Given the description of an element on the screen output the (x, y) to click on. 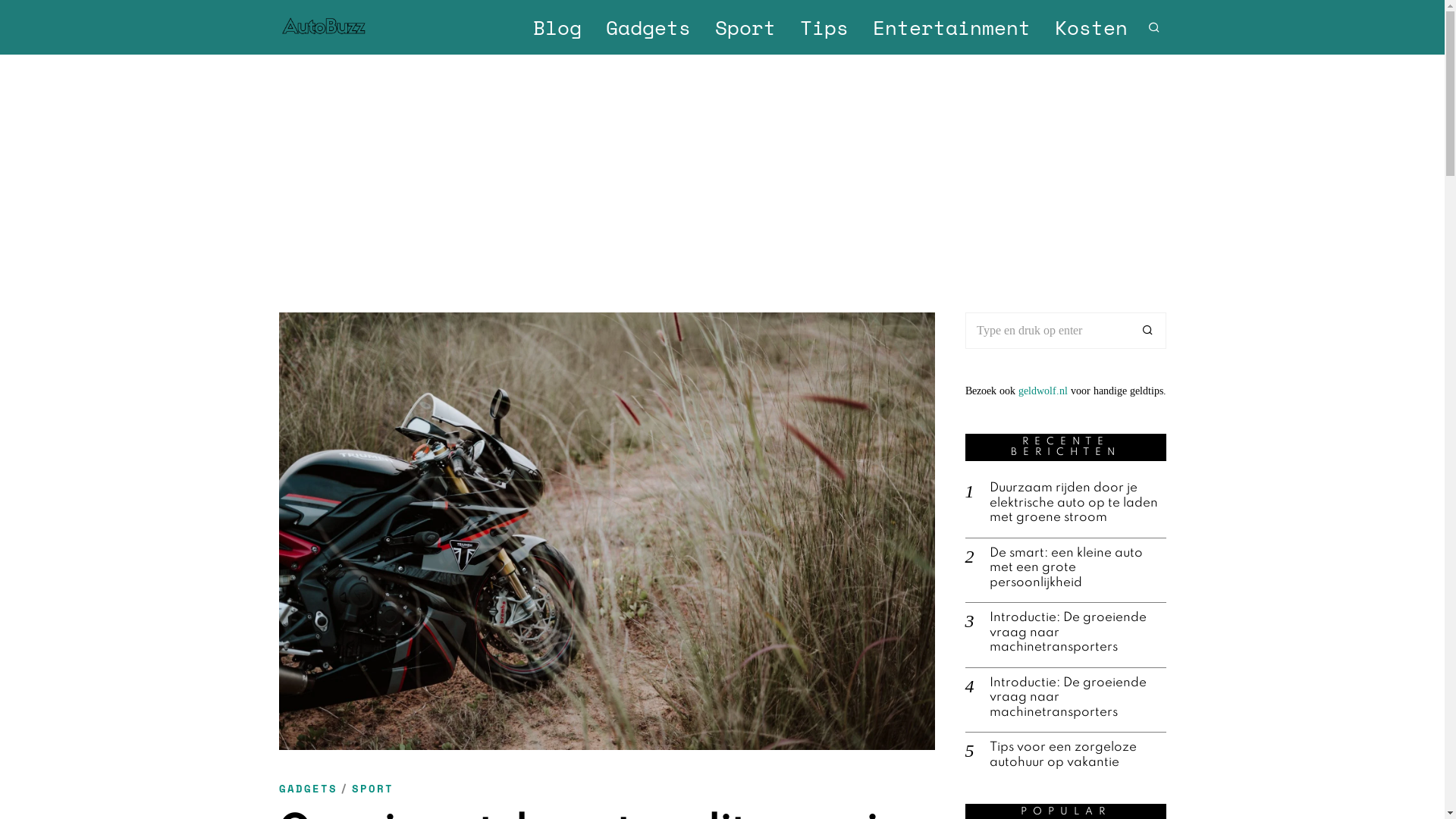
Sport Element type: text (744, 27)
SPORT Element type: text (372, 788)
geldwolf.nl Element type: text (1041, 390)
Tips Element type: text (823, 27)
De smart: een kleine auto met een grote persoonlijkheid Element type: text (1076, 568)
Gadgets Element type: text (647, 27)
Kosten Element type: text (1090, 27)
Blog Element type: text (556, 27)
Go Element type: hover (1147, 330)
Introductie: De groeiende vraag naar machinetransporters Element type: text (1076, 697)
Entertainment Element type: text (950, 27)
GADGETS Element type: text (308, 788)
Introductie: De groeiende vraag naar machinetransporters Element type: text (1076, 632)
Tips voor een zorgeloze autohuur op vakantie Element type: text (1076, 754)
Advertisement Element type: hover (721, 168)
